Given the description of an element on the screen output the (x, y) to click on. 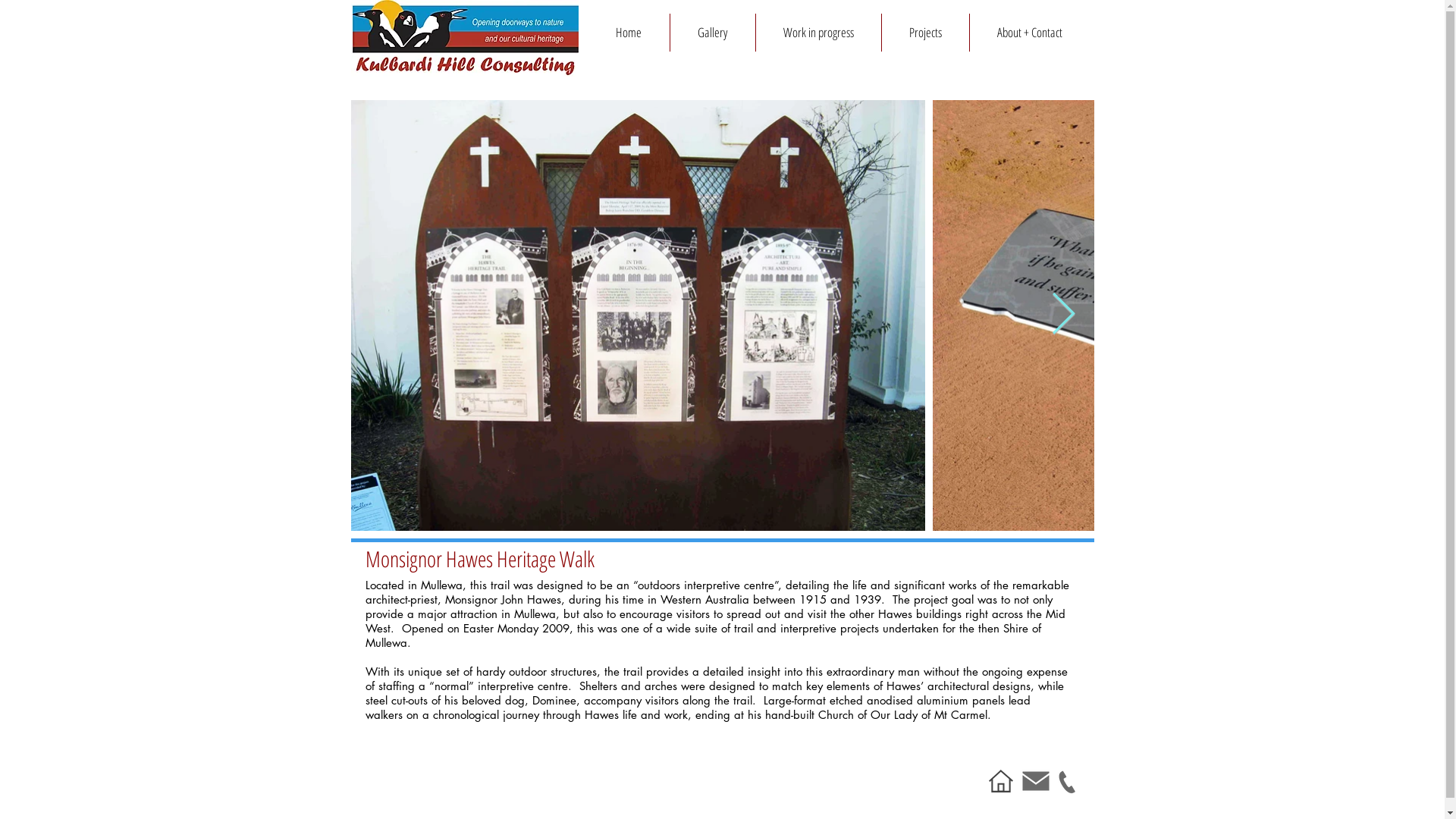
Home Element type: text (628, 32)
Work in progress Element type: text (818, 32)
Gallery Element type: text (711, 32)
About + Contact Element type: text (1029, 32)
